Given the description of an element on the screen output the (x, y) to click on. 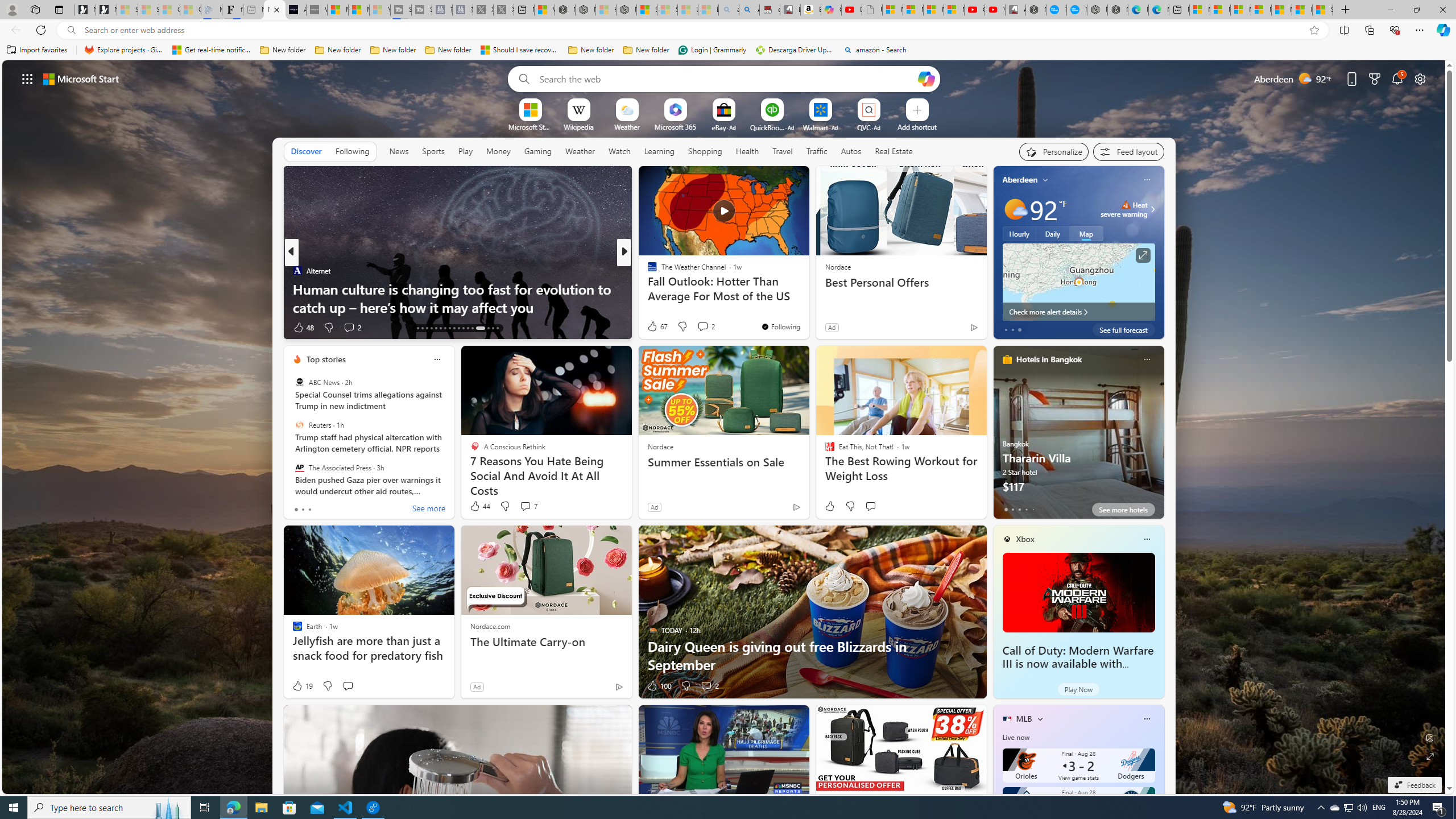
What's the best AI voice generator? - voice.ai - Sleeping (316, 9)
Notifications (1397, 78)
Search icon (70, 29)
View comments 4 Comment (702, 327)
Top 5 Scary Videos (647, 288)
Play (465, 151)
Xbox (1025, 538)
Map (1085, 233)
Start the conversation (347, 685)
Play Now (1078, 689)
Nordace - My Account (1035, 9)
Weather (580, 151)
View comments 2 Comment (705, 685)
